Given the description of an element on the screen output the (x, y) to click on. 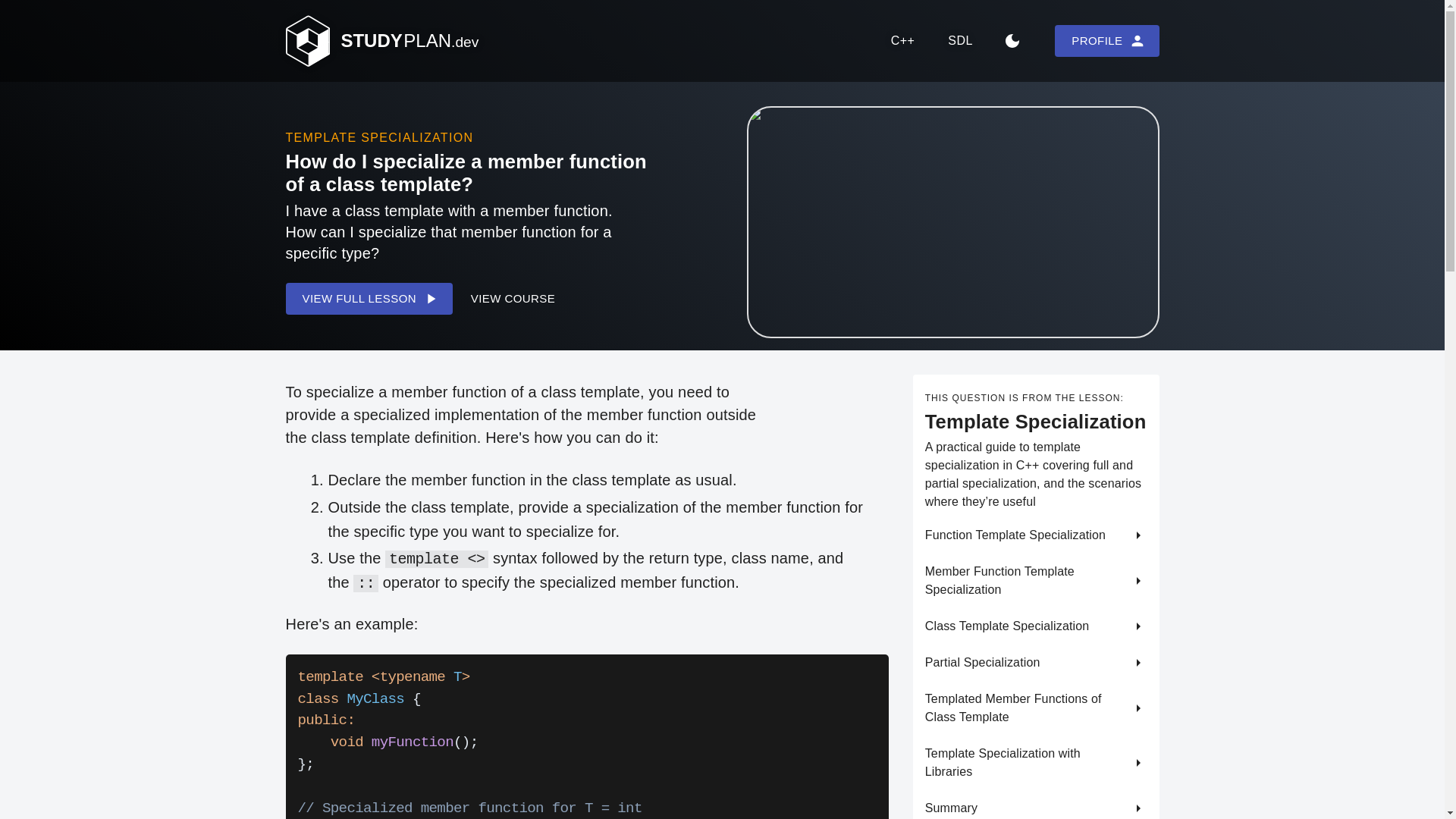
VIEW COURSE (513, 298)
STUDYPLAN.dev (389, 48)
VIEW COURSE (518, 306)
VIEW FULL LESSON (368, 298)
VIEW FULL LESSON (373, 306)
STUDYPLAN.dev (381, 40)
PROFILE (1106, 40)
SDL (960, 40)
